Given the description of an element on the screen output the (x, y) to click on. 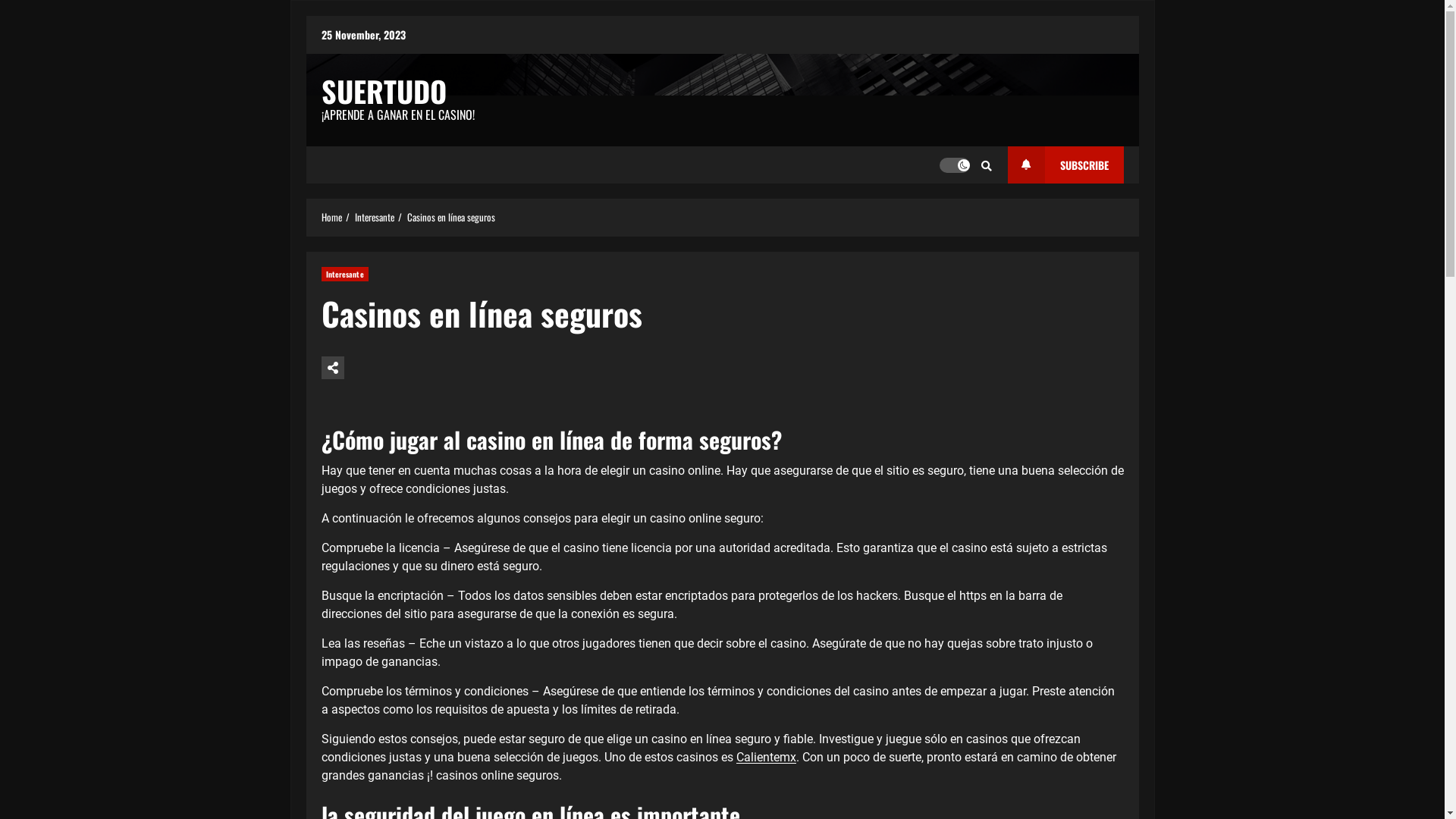
Interesante Element type: text (374, 216)
Light/Dark Button Element type: text (953, 164)
SUBSCRIBE Element type: text (1065, 164)
Search Element type: text (960, 210)
Calientemx Element type: text (765, 756)
SUERTUDO Element type: text (383, 90)
Interesante Element type: text (344, 273)
Home Element type: text (331, 216)
Skip to content Element type: text (304, 15)
Search Element type: hover (986, 164)
